Given the description of an element on the screen output the (x, y) to click on. 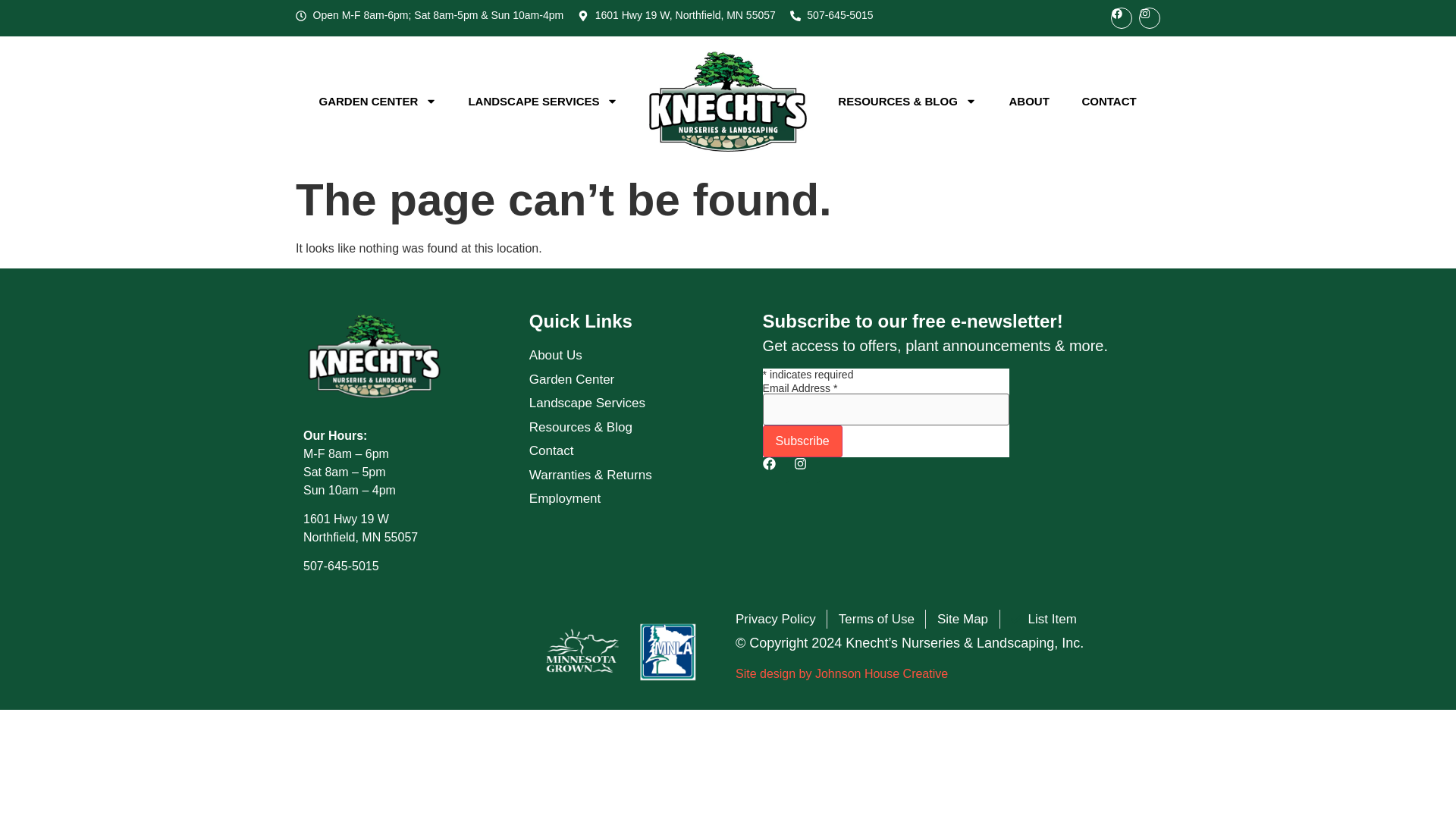
507-645-5015 (831, 15)
Subscribe (802, 441)
GARDEN CENTER (377, 101)
LANDSCAPE SERVICES (542, 101)
1601 Hwy 19 W, Northfield, MN 55057 (677, 15)
ABOUT (1028, 101)
CONTACT (1109, 101)
